Given the description of an element on the screen output the (x, y) to click on. 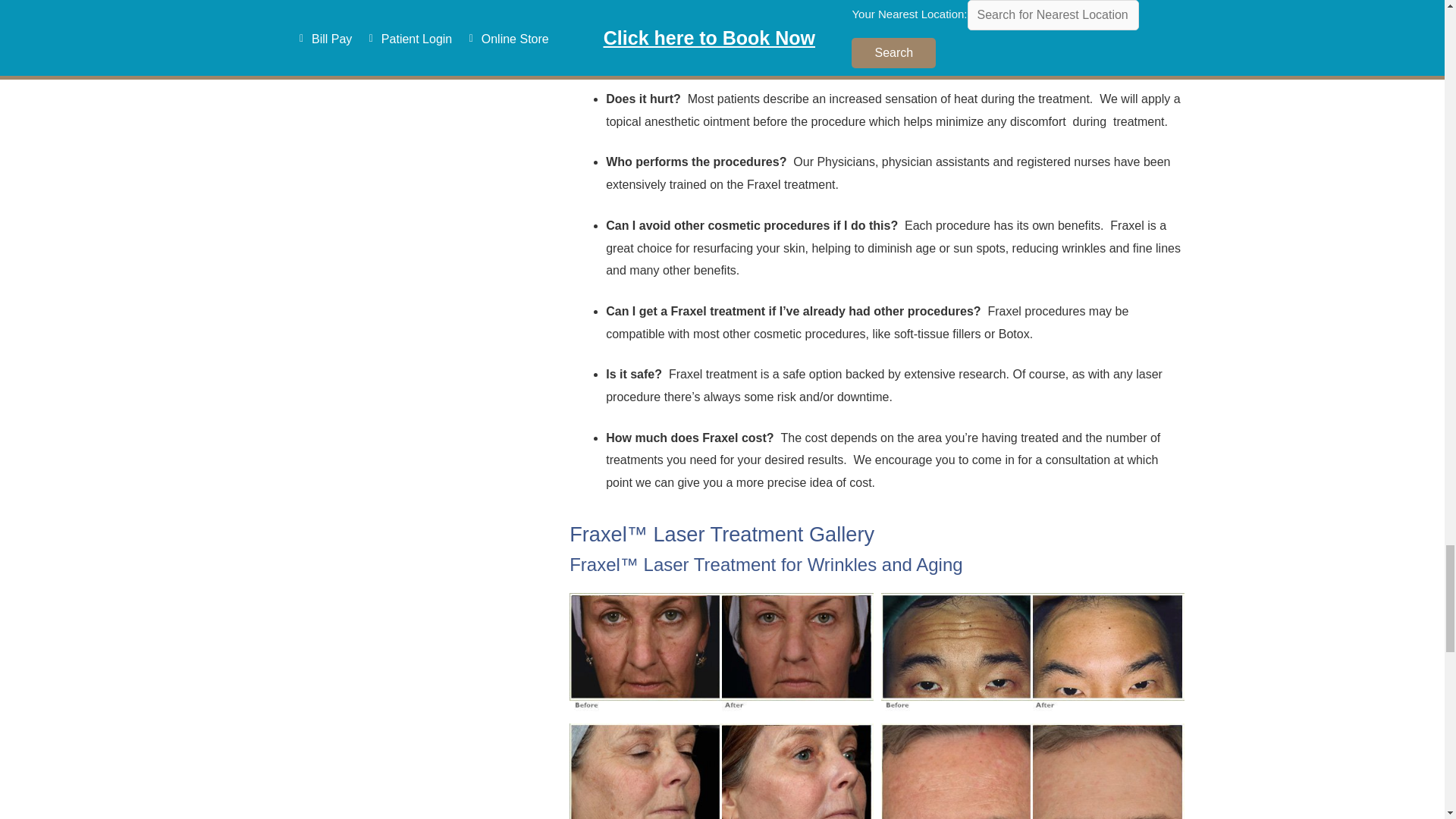
wrinkles aging2 1 (721, 771)
wrinkles aging3 1 (1032, 771)
wrinkles aging1 (721, 653)
